Given the description of an element on the screen output the (x, y) to click on. 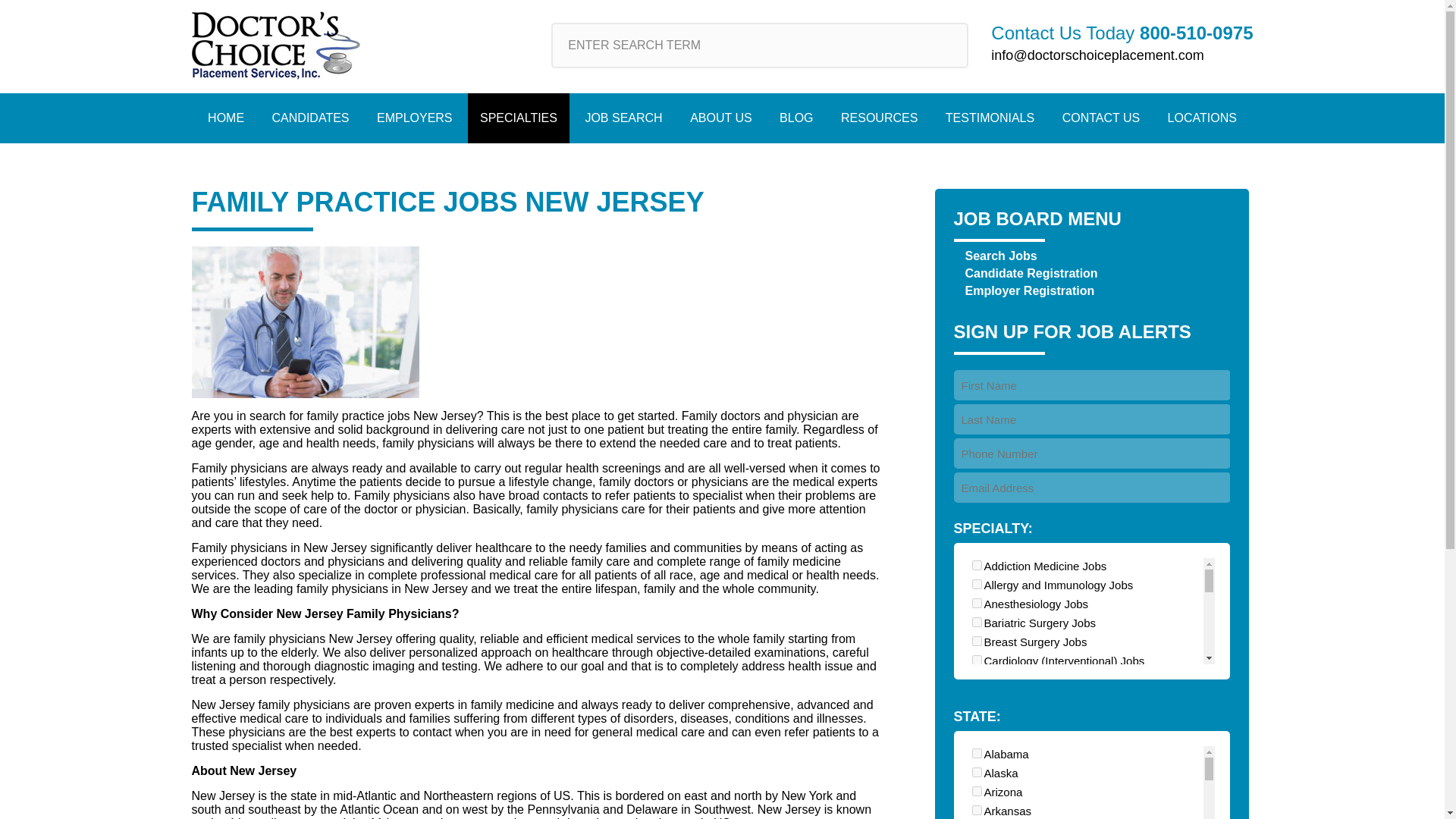
74 (976, 755)
HOME (225, 118)
79 (976, 736)
EMPLOYERS (414, 118)
22 (976, 660)
53 (976, 773)
800-510-0975 (1196, 32)
72 (976, 697)
21 (976, 622)
38 (976, 716)
SPECIALTIES (518, 118)
29 (976, 641)
Doctors Choice Placement (274, 45)
77 (976, 565)
28 (976, 603)
